Given the description of an element on the screen output the (x, y) to click on. 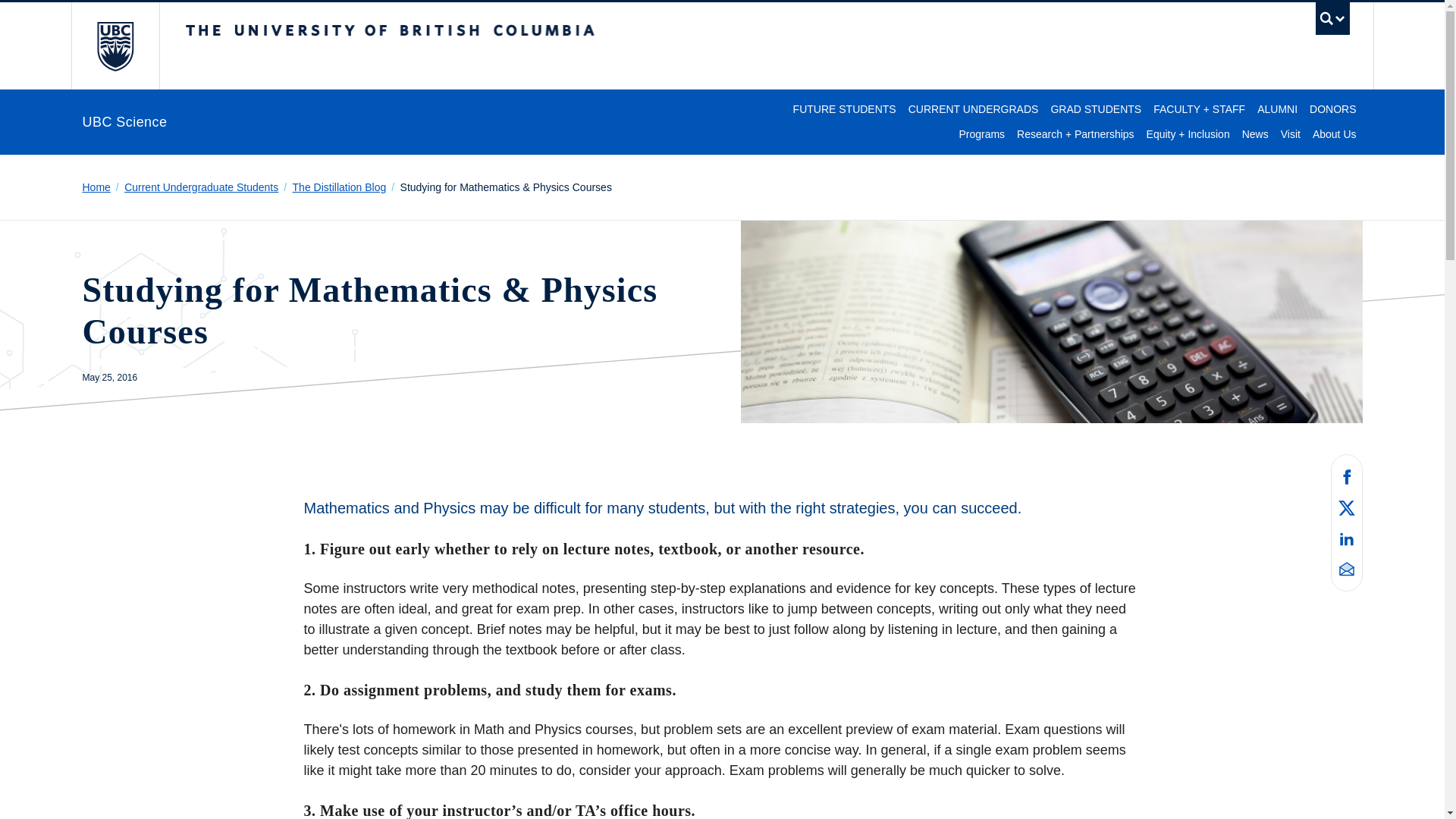
Current Undergraduate Students (206, 186)
The Distillation Blog (344, 186)
GRAD STUDENTS (1095, 109)
News (1255, 134)
ALUMNI (1276, 109)
UBC Search (1331, 21)
Send email (1346, 568)
Programs (981, 134)
DONORS (1332, 109)
Tweet (1346, 506)
